Given the description of an element on the screen output the (x, y) to click on. 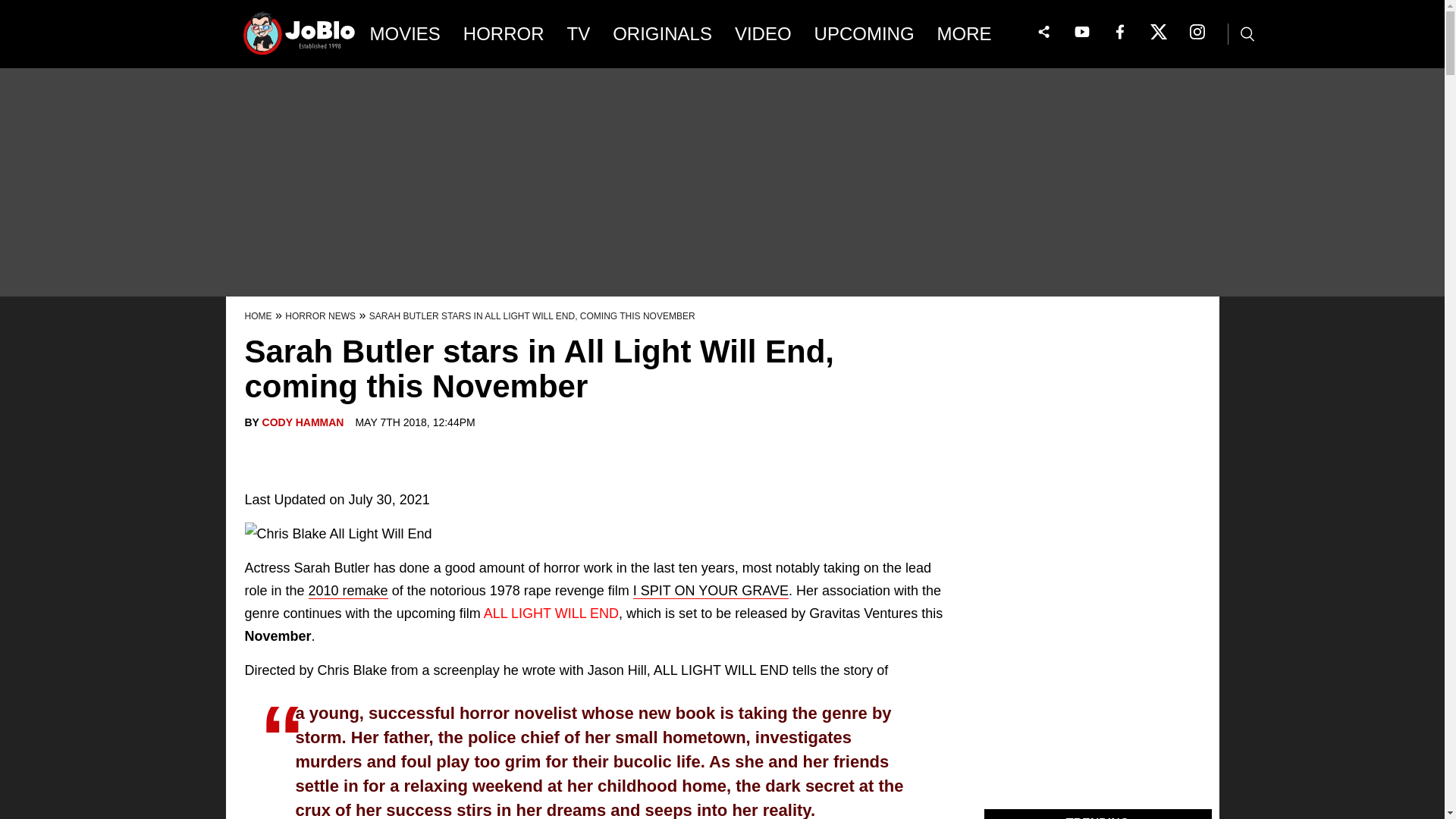
HORROR (503, 34)
VIDEO (762, 34)
MORE (976, 34)
JoBlo Logo (299, 38)
MOVIES (405, 34)
UPCOMING (863, 34)
ORIGINALS (662, 34)
Go (13, 7)
TV (578, 34)
